Given the description of an element on the screen output the (x, y) to click on. 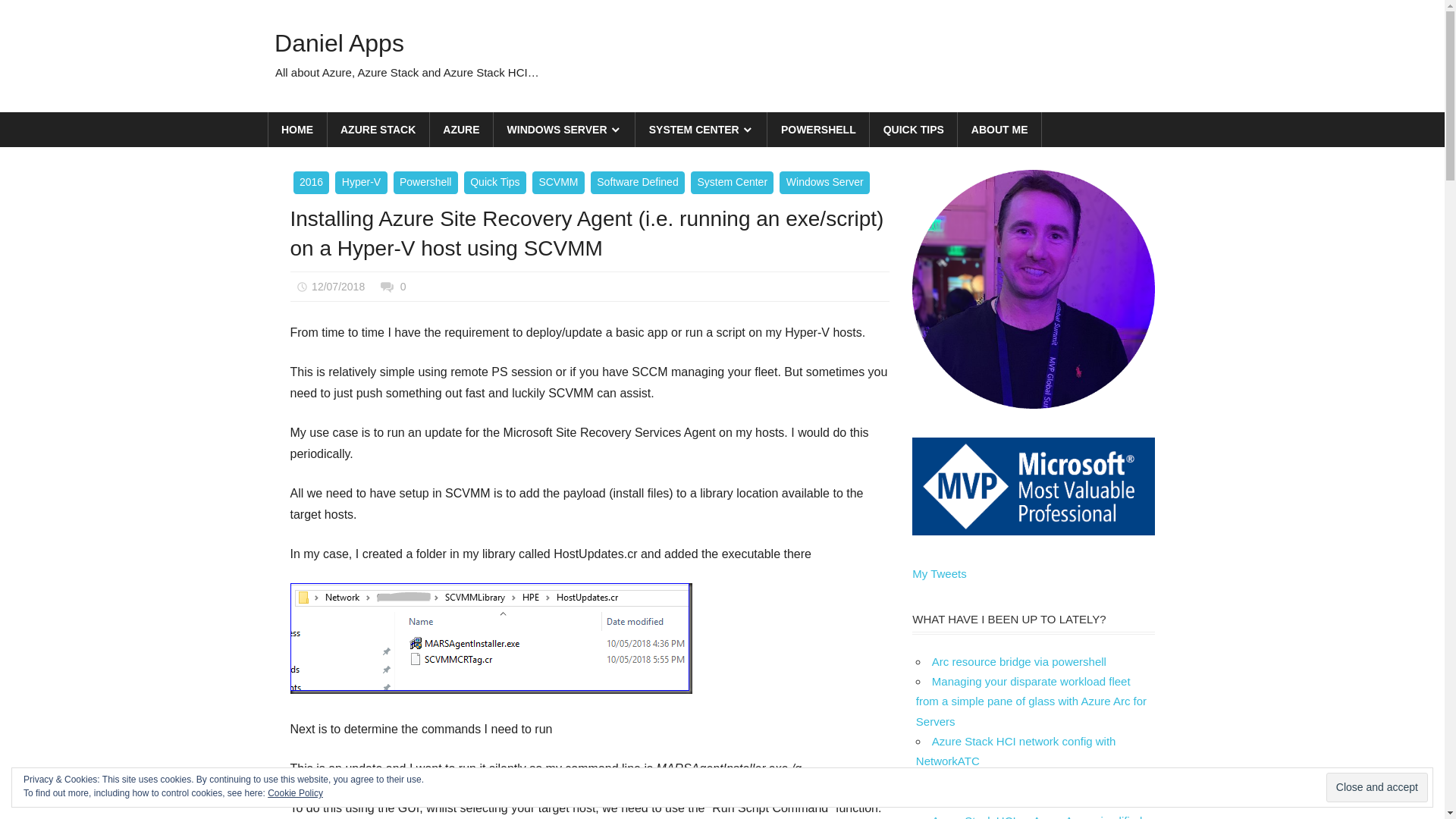
SCVMM Element type: text (558, 182)
POWERSHELL Element type: text (818, 129)
Dan Element type: text (410, 286)
image Element type: hover (490, 638)
SYSTEM CENTER Element type: text (701, 129)
Cookie Policy Element type: text (295, 792)
Software Defined Element type: text (637, 182)
HOME Element type: text (297, 129)
0 Element type: text (403, 286)
AZURE Element type: text (461, 129)
Arc resource bridge via powershell Element type: text (1018, 661)
ABOUT ME Element type: text (999, 129)
QUICK TIPS Element type: text (913, 129)
2016 Element type: text (310, 182)
AZURE STACK Element type: text (378, 129)
Hyper-V Element type: text (360, 182)
Powershell Element type: text (425, 182)
12/07/2018 Element type: text (337, 286)
Windows Server Element type: text (824, 182)
Manage your existing datacenter with Azure Arc Element type: text (1018, 790)
System Center Element type: text (731, 182)
WINDOWS SERVER Element type: text (564, 129)
Quick Tips Element type: text (495, 182)
Daniel Apps Element type: text (339, 42)
My Tweets Element type: text (939, 573)
Azure Stack HCI network config with NetworkATC Element type: text (1016, 750)
Close and accept Element type: text (1376, 787)
